Given the description of an element on the screen output the (x, y) to click on. 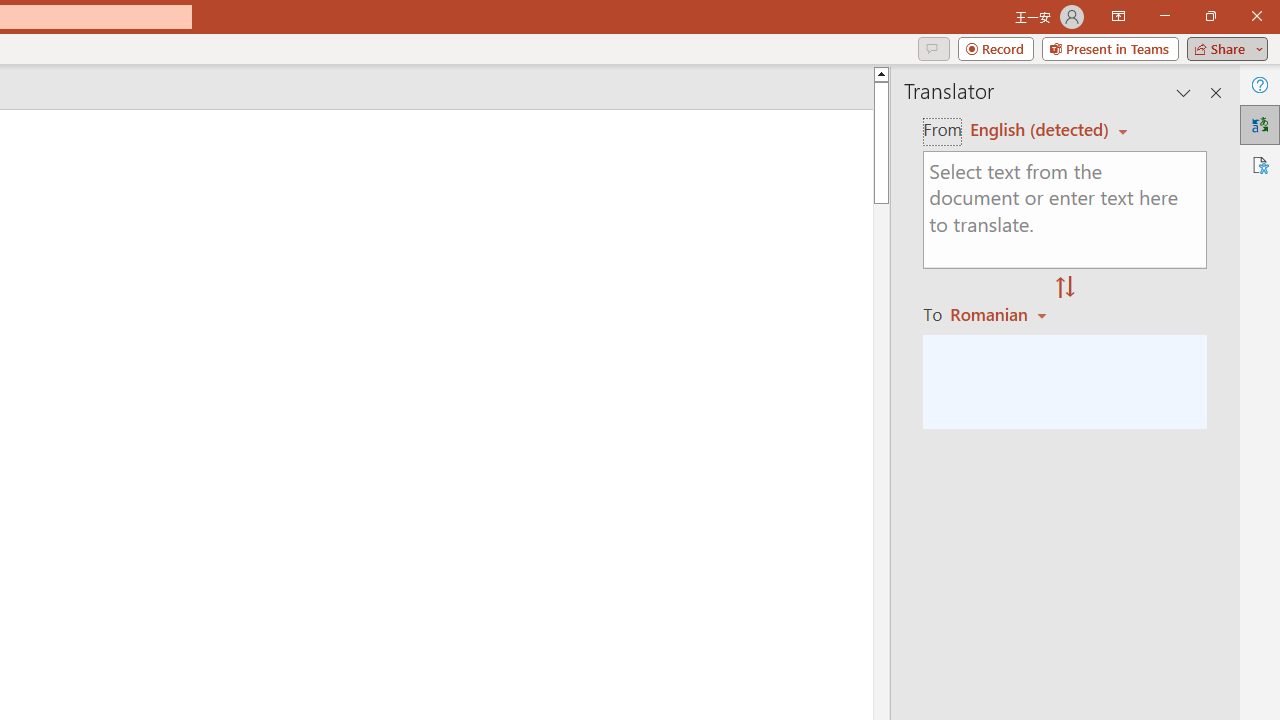
Czech (detected) (1039, 129)
